Given the description of an element on the screen output the (x, y) to click on. 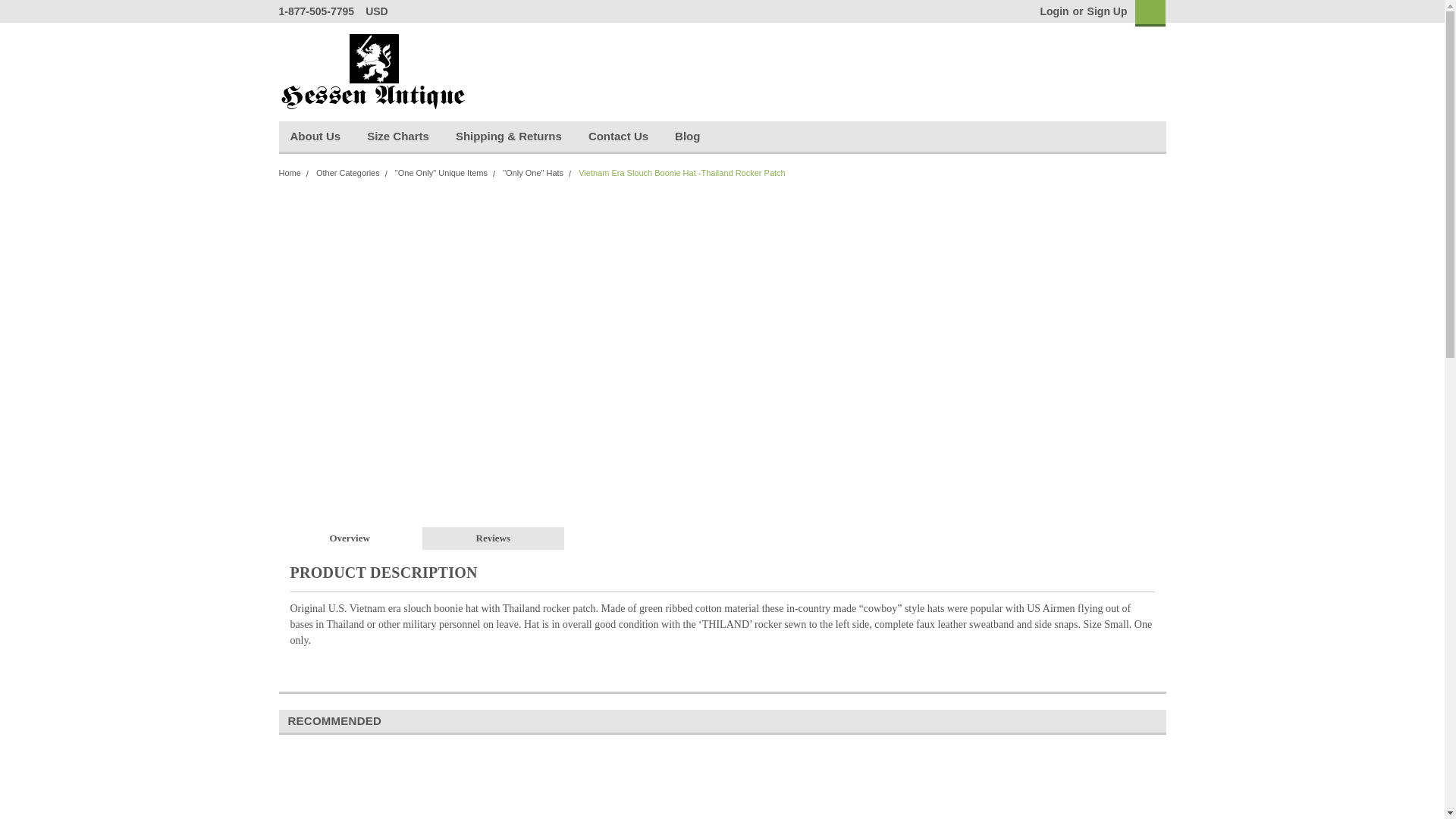
Login (1054, 11)
Sign Up (1104, 11)
USD (381, 11)
Hessen Antique (373, 71)
Currency Selector (381, 11)
